Given the description of an element on the screen output the (x, y) to click on. 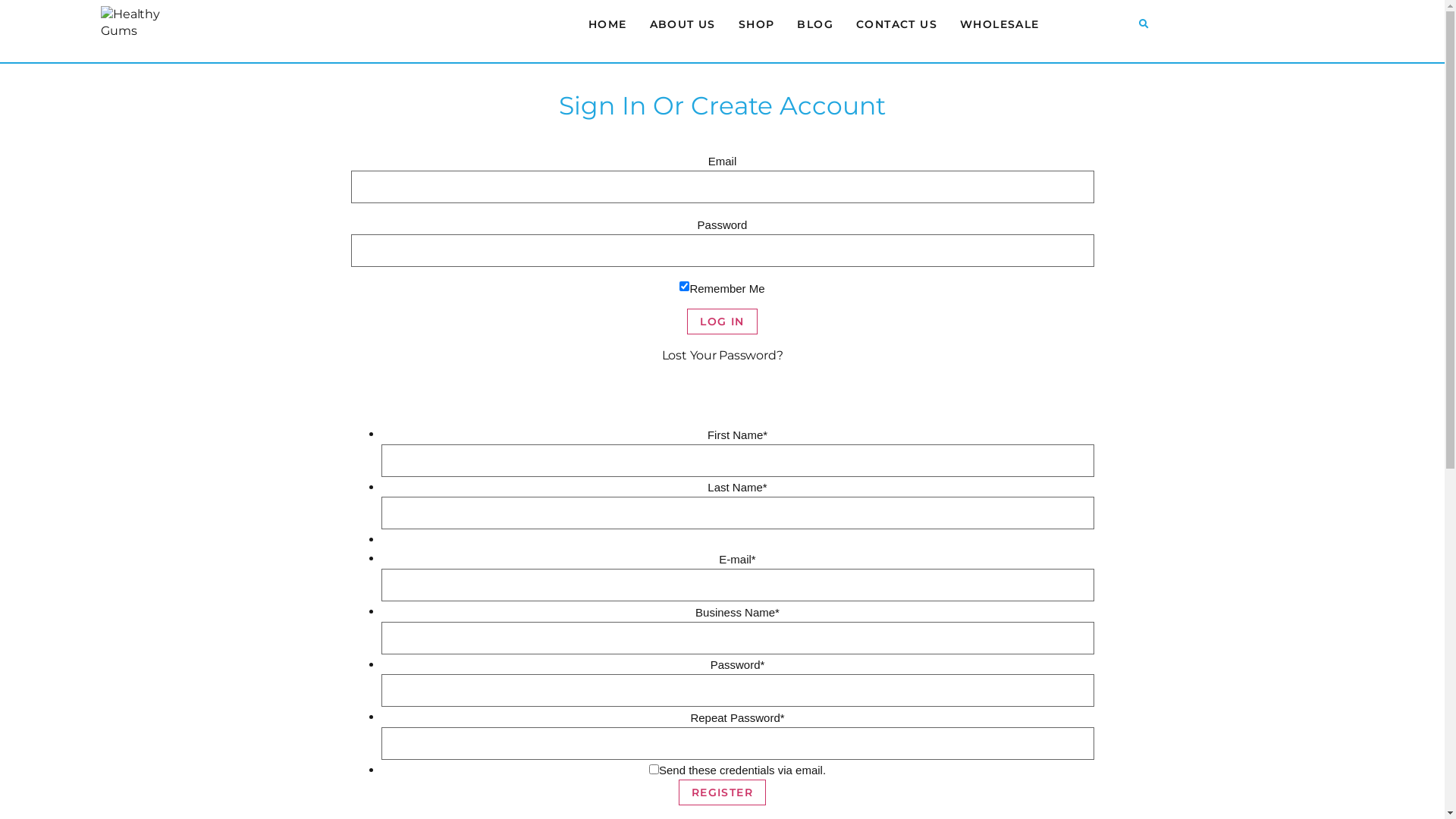
SHOP Element type: text (756, 24)
BLOG Element type: text (815, 24)
ABOUT US Element type: text (682, 24)
WHOLESALE Element type: text (999, 24)
HOME Element type: text (607, 24)
Register Element type: text (721, 792)
Lost Your Password? Element type: text (722, 355)
CONTACT US Element type: text (896, 24)
Log In Element type: text (721, 321)
